Given the description of an element on the screen output the (x, y) to click on. 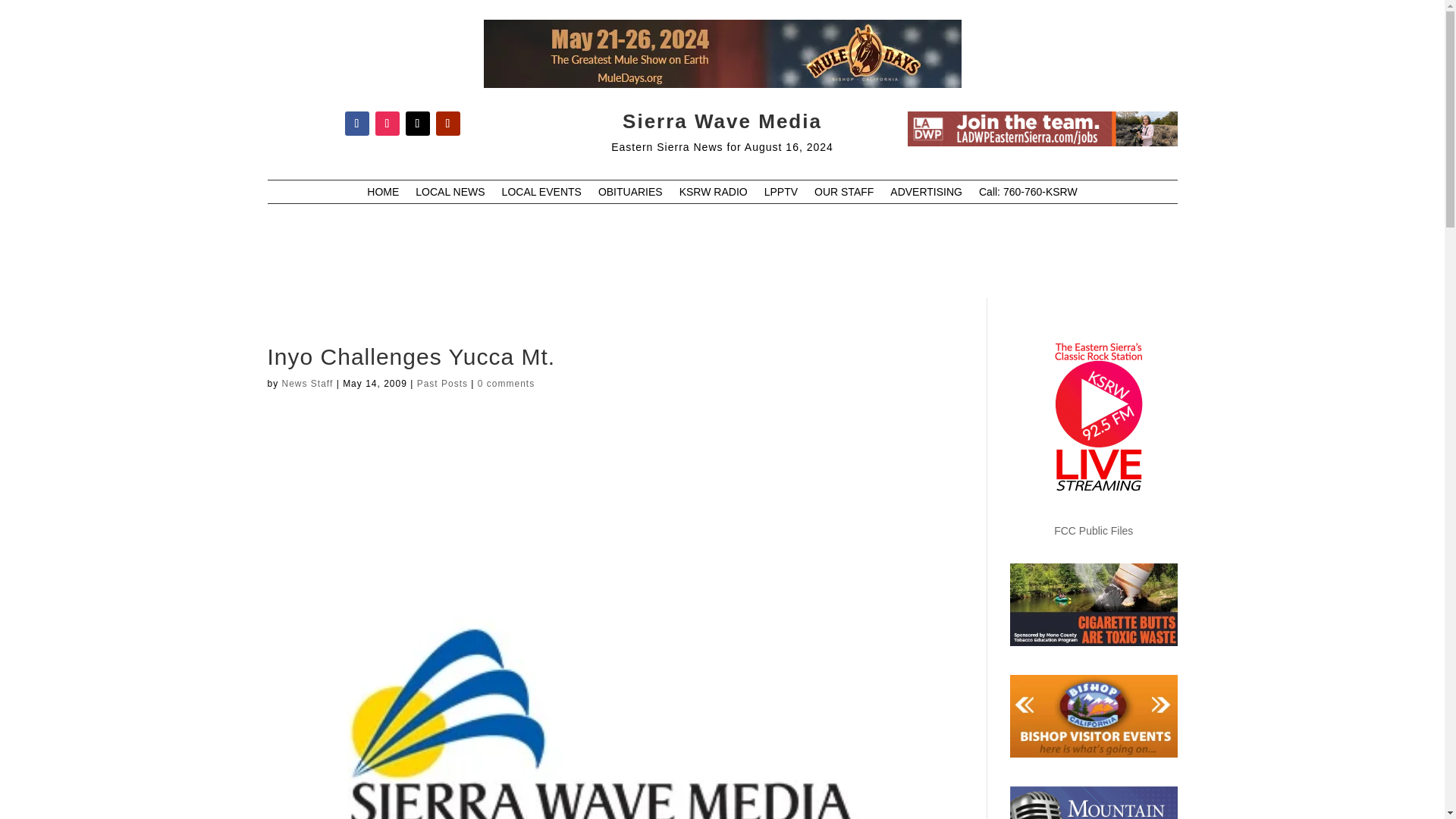
KSRW RADIO (713, 194)
Follow on Youtube (447, 123)
Posts by News Staff (307, 383)
Advertising (925, 194)
LOCAL NEWS (449, 194)
FCC Public Files (1093, 530)
0 comments (505, 383)
Past Posts (441, 383)
News Staff (307, 383)
dec (1041, 128)
